Given the description of an element on the screen output the (x, y) to click on. 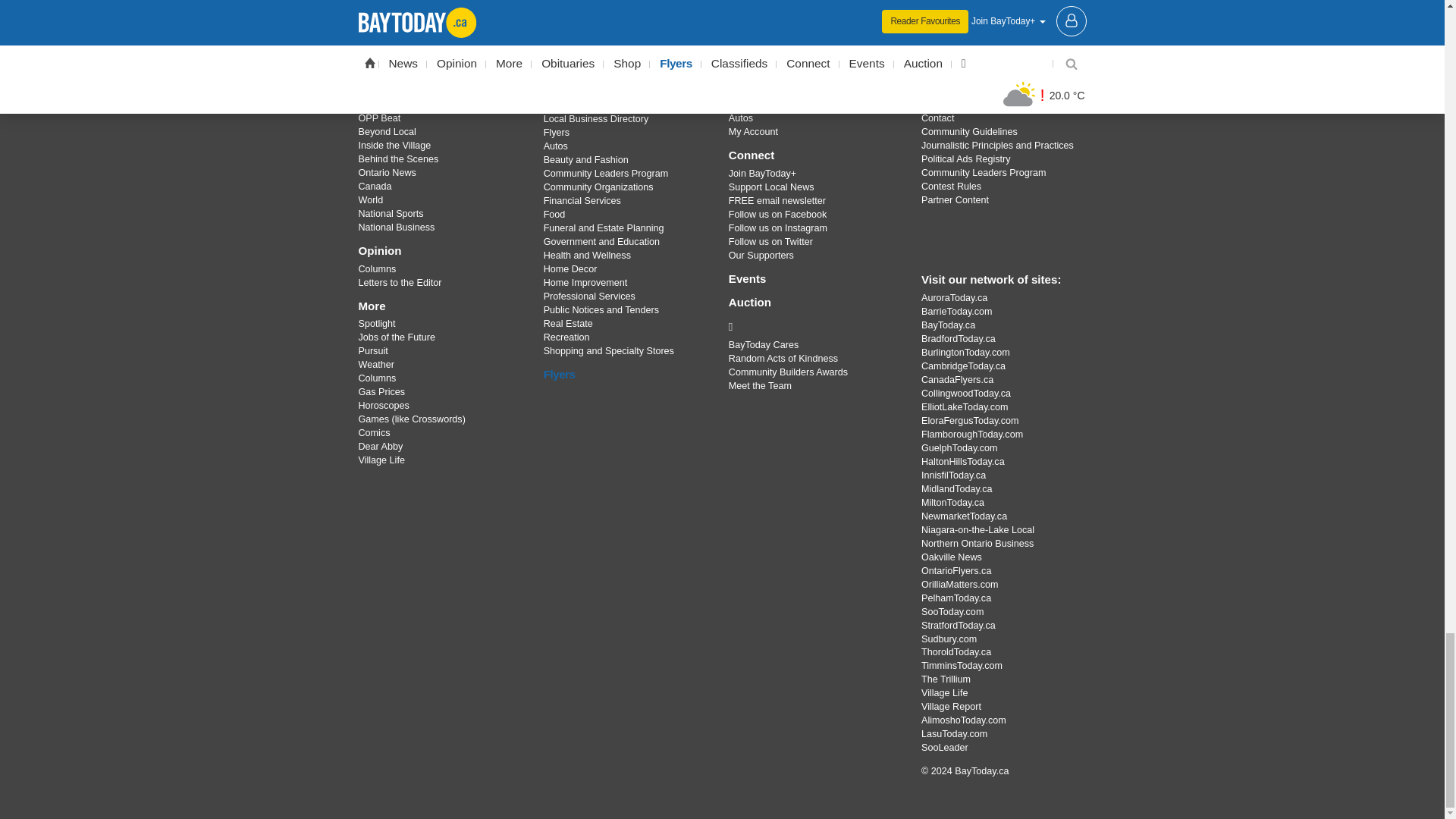
BayToday Cares (813, 326)
